Given the description of an element on the screen output the (x, y) to click on. 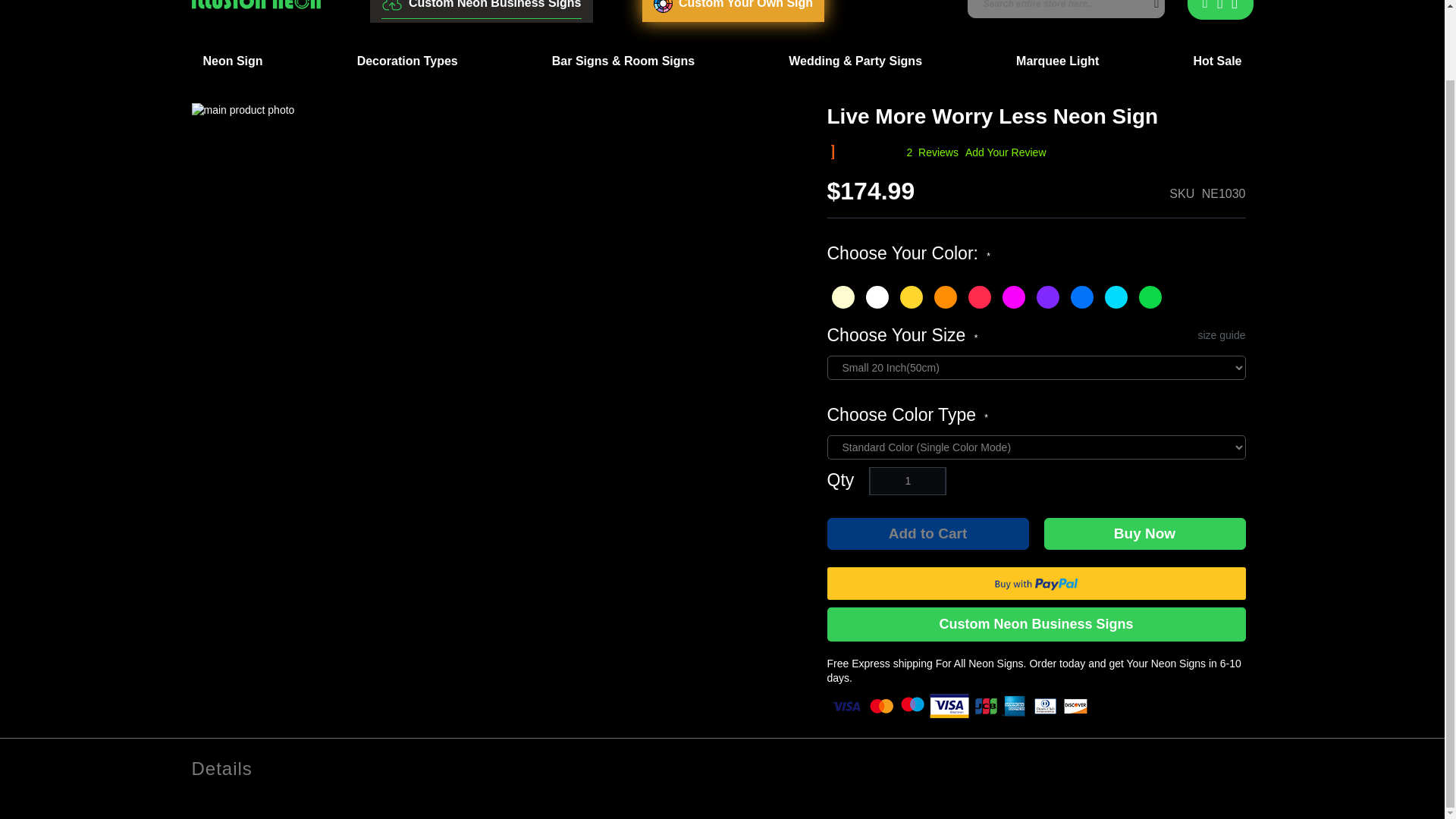
1 (906, 480)
Decoration Types (407, 61)
Custom Neon Business Signs (480, 9)
Neon Sign (231, 61)
Custom Your Own Sign (733, 11)
Upload Image (480, 9)
Custom Your Own Sign (733, 11)
Decoration Types (407, 61)
Neon Sign (231, 61)
